Given the description of an element on the screen output the (x, y) to click on. 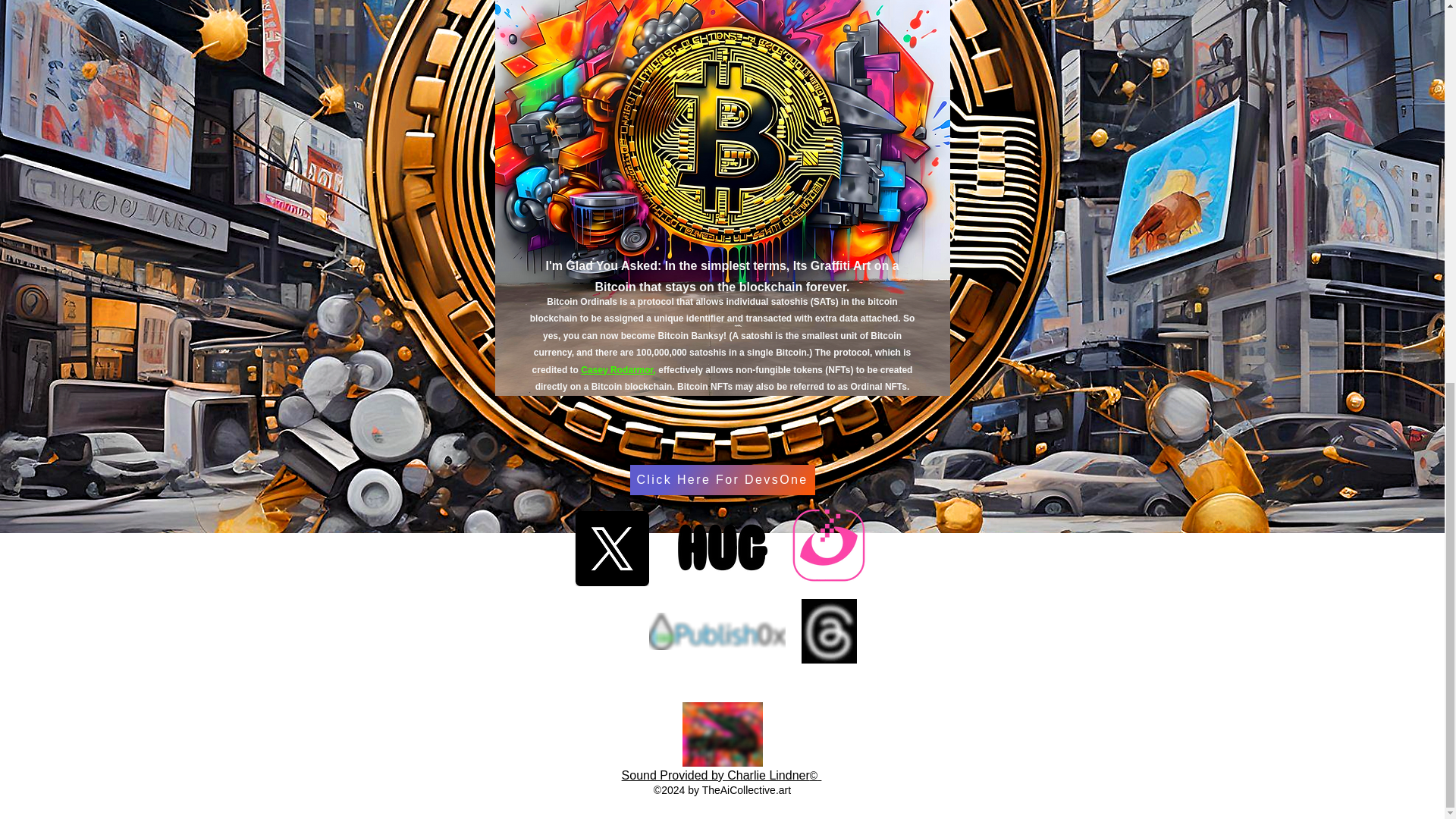
Click Here For DevsOne (720, 480)
Sound Provided by Charlie Lindner (715, 775)
Rodarmor, (632, 368)
Casey (593, 368)
